Given the description of an element on the screen output the (x, y) to click on. 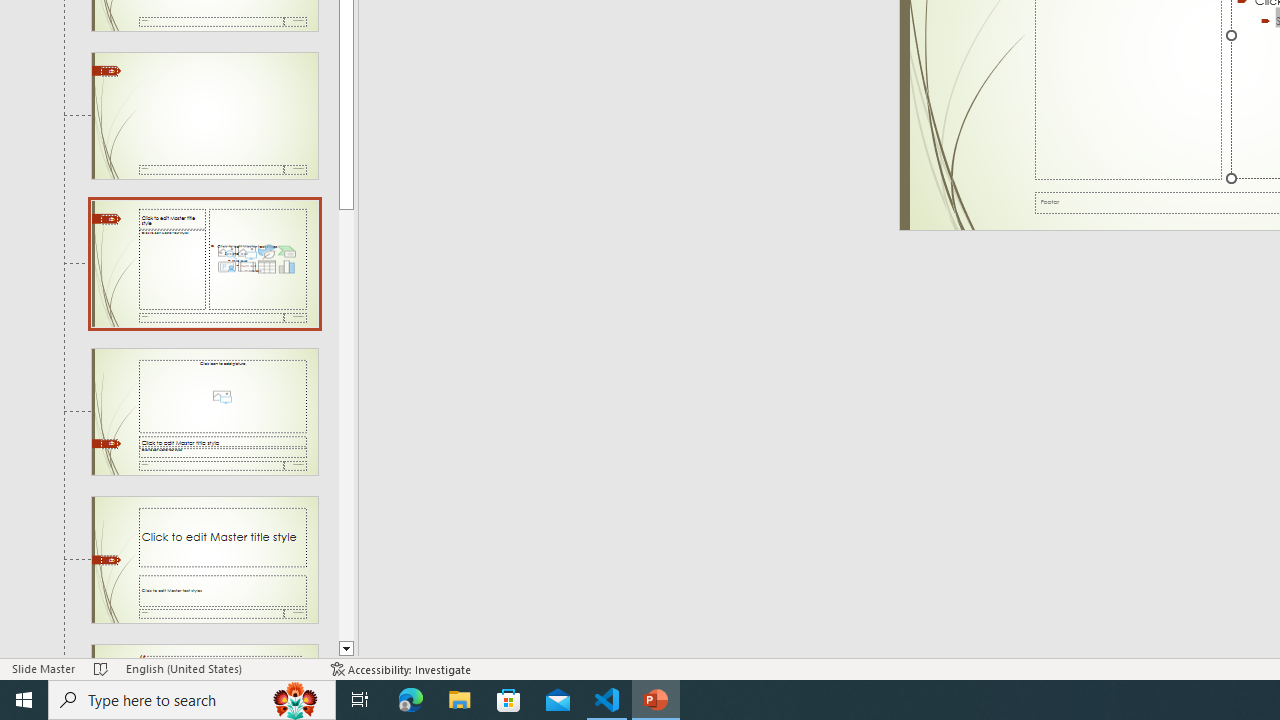
Slide Blank Layout: used by no slides (204, 116)
Slide Content with Caption Layout: used by no slides (204, 263)
